Given the description of an element on the screen output the (x, y) to click on. 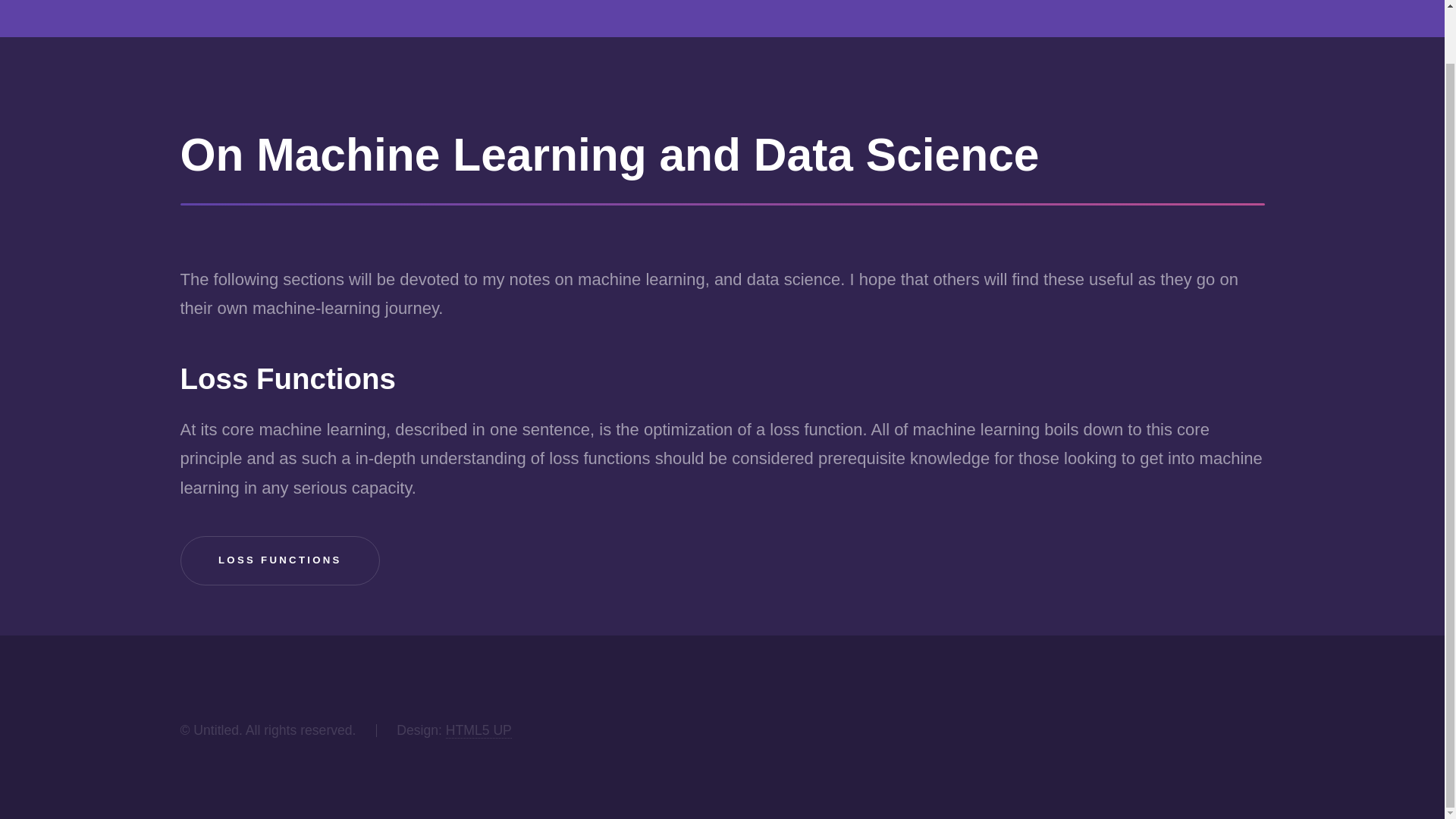
LOSS FUNCTIONS (280, 560)
Steven W. Tolbert (119, 3)
HTML5 UP (478, 730)
